Given the description of an element on the screen output the (x, y) to click on. 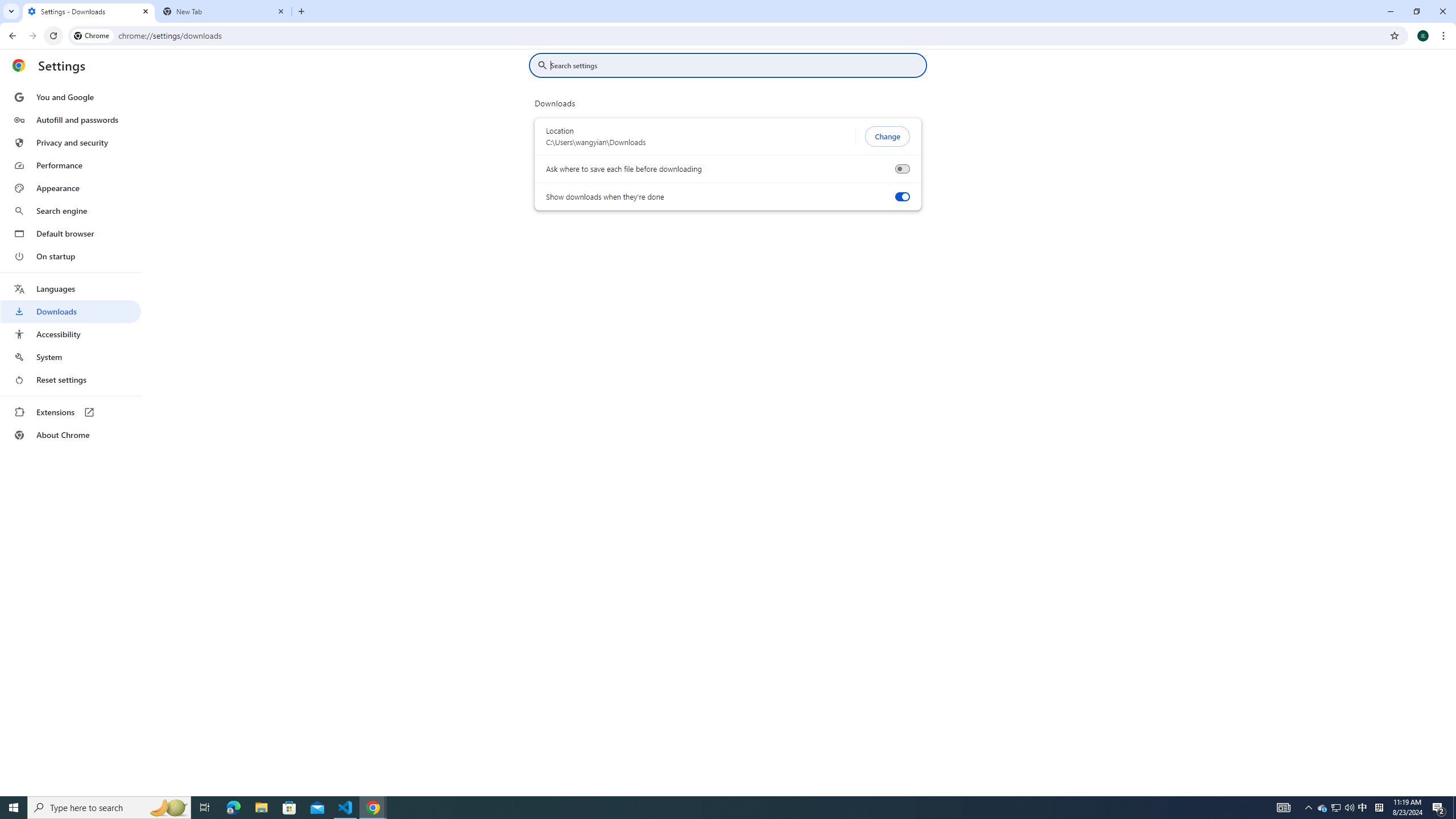
Settings - Downloads (88, 11)
Privacy and security (70, 142)
Default browser (70, 233)
Change (887, 136)
Accessibility (70, 333)
New Tab (224, 11)
